Given the description of an element on the screen output the (x, y) to click on. 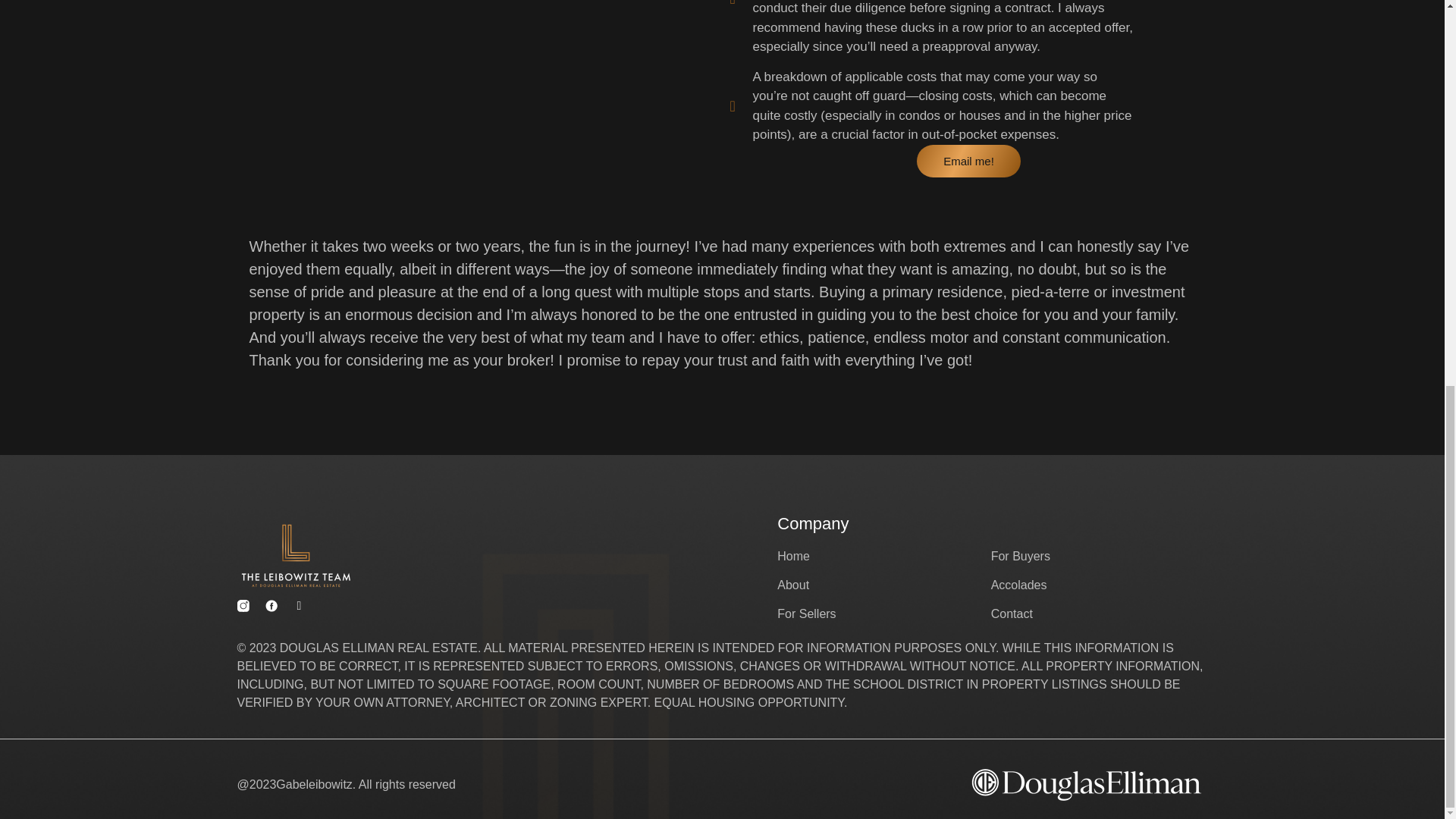
For Buyers (1097, 556)
Accolades (1097, 585)
Home (883, 556)
Contact (1097, 614)
About (883, 585)
Email me! (968, 160)
For Sellers (883, 614)
